Given the description of an element on the screen output the (x, y) to click on. 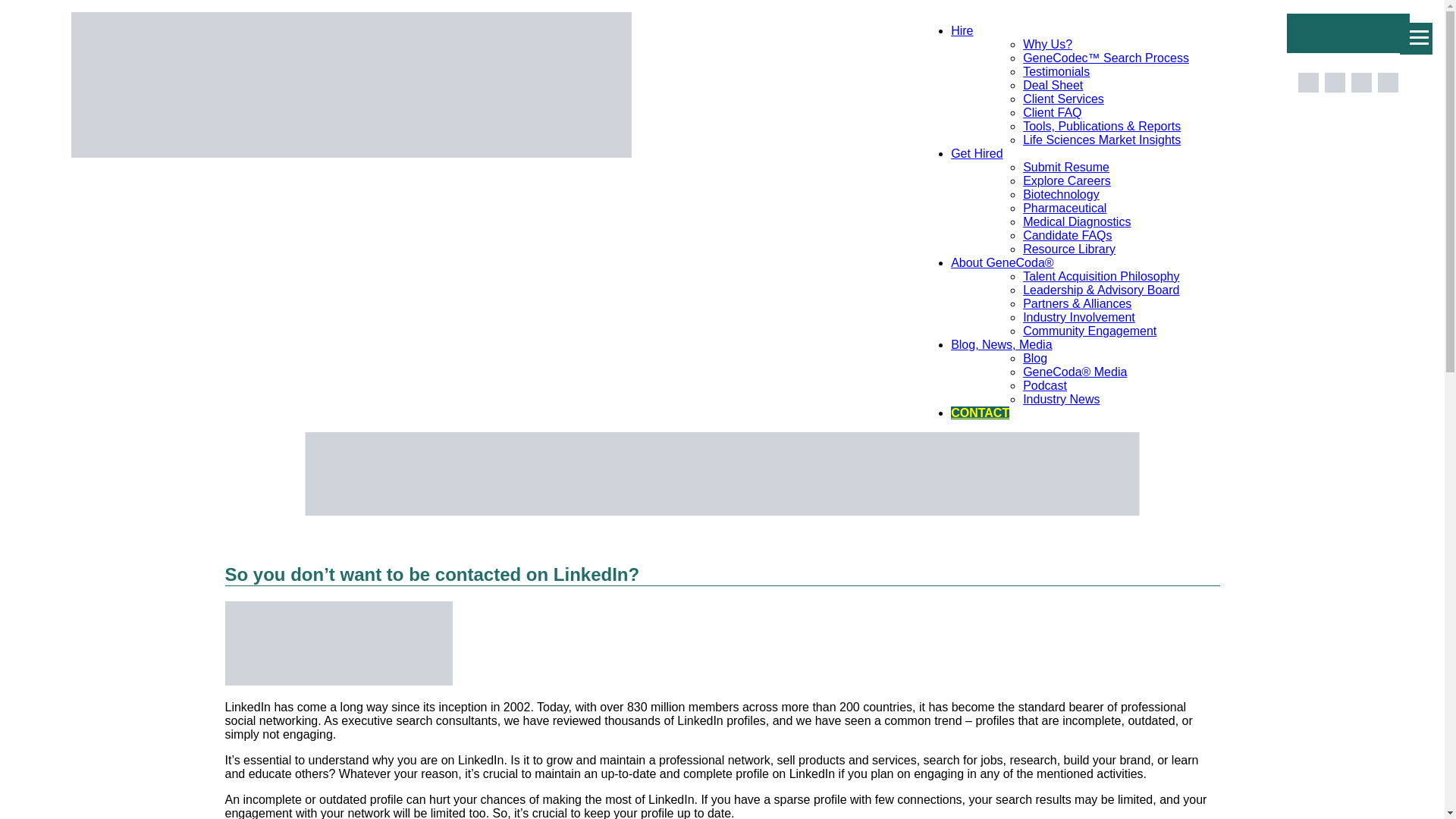
Industry Involvement (1079, 317)
Why Us? (1047, 43)
CONTACT (979, 412)
Client FAQ (1052, 112)
Podcast (1045, 385)
Pharmaceutical (1064, 207)
Talent Acquisition Philosophy (1101, 276)
Resource Library (1069, 248)
Biotechnology (1061, 194)
Blog, News, Media (1000, 344)
Deal Sheet (1053, 84)
Get Hired (976, 153)
Medical Diagnostics (1077, 221)
Testimonials (1056, 71)
